Given the description of an element on the screen output the (x, y) to click on. 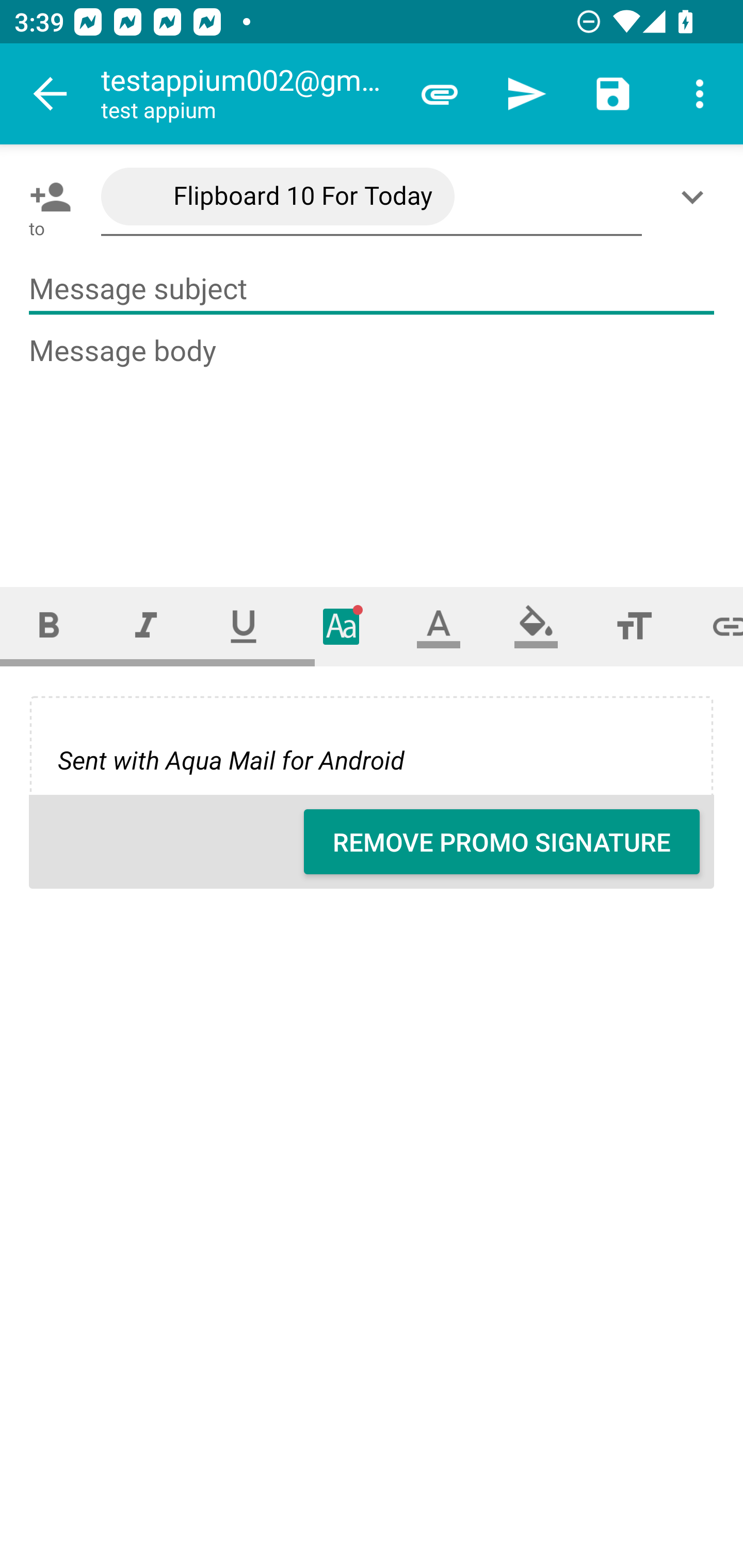
Navigate up (50, 93)
testappium002@gmail.com test appium (248, 93)
Attach (439, 93)
Send (525, 93)
Save (612, 93)
More options (699, 93)
Pick contact: To (46, 196)
Show/Add CC/BCC (696, 196)
Message subject (371, 288)
Message body (372, 442)
Bold (48, 626)
Italic (145, 626)
Underline (243, 626)
Typeface (font) (341, 626)
Text color (438, 626)
Fill color (536, 626)
Font size (633, 626)
REMOVE PROMO SIGNATURE (501, 841)
